Given the description of an element on the screen output the (x, y) to click on. 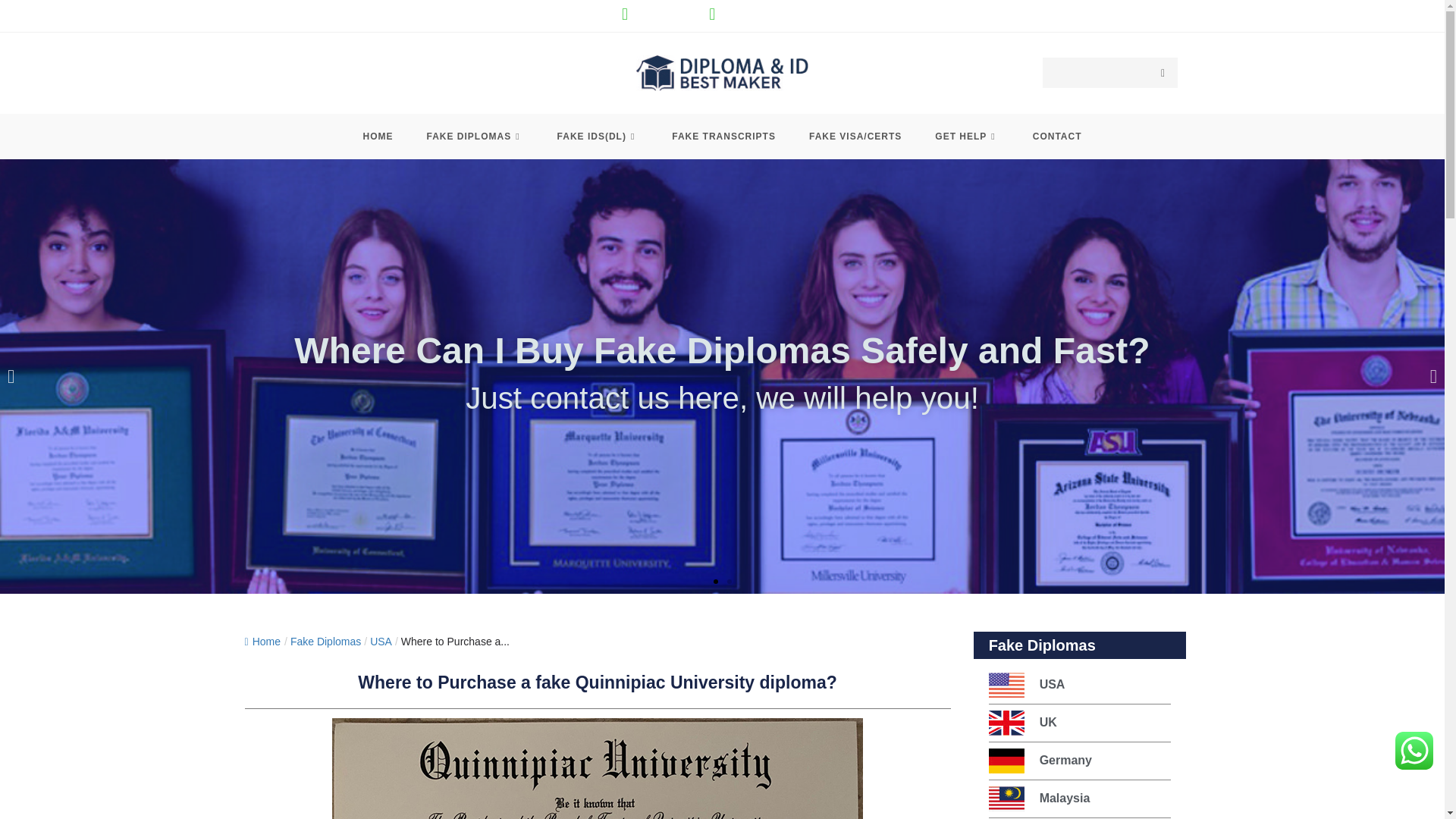
Category Name (325, 641)
Where to Purchase a fake Quinnipiac University diploma? (455, 641)
FAKE DIPLOMAS (474, 135)
CONTACT (1057, 135)
USA (380, 641)
GET HELP (966, 135)
FAKE TRANSCRIPTS (723, 135)
Quinnipiac University diploma (597, 768)
HOME (377, 135)
